Given the description of an element on the screen output the (x, y) to click on. 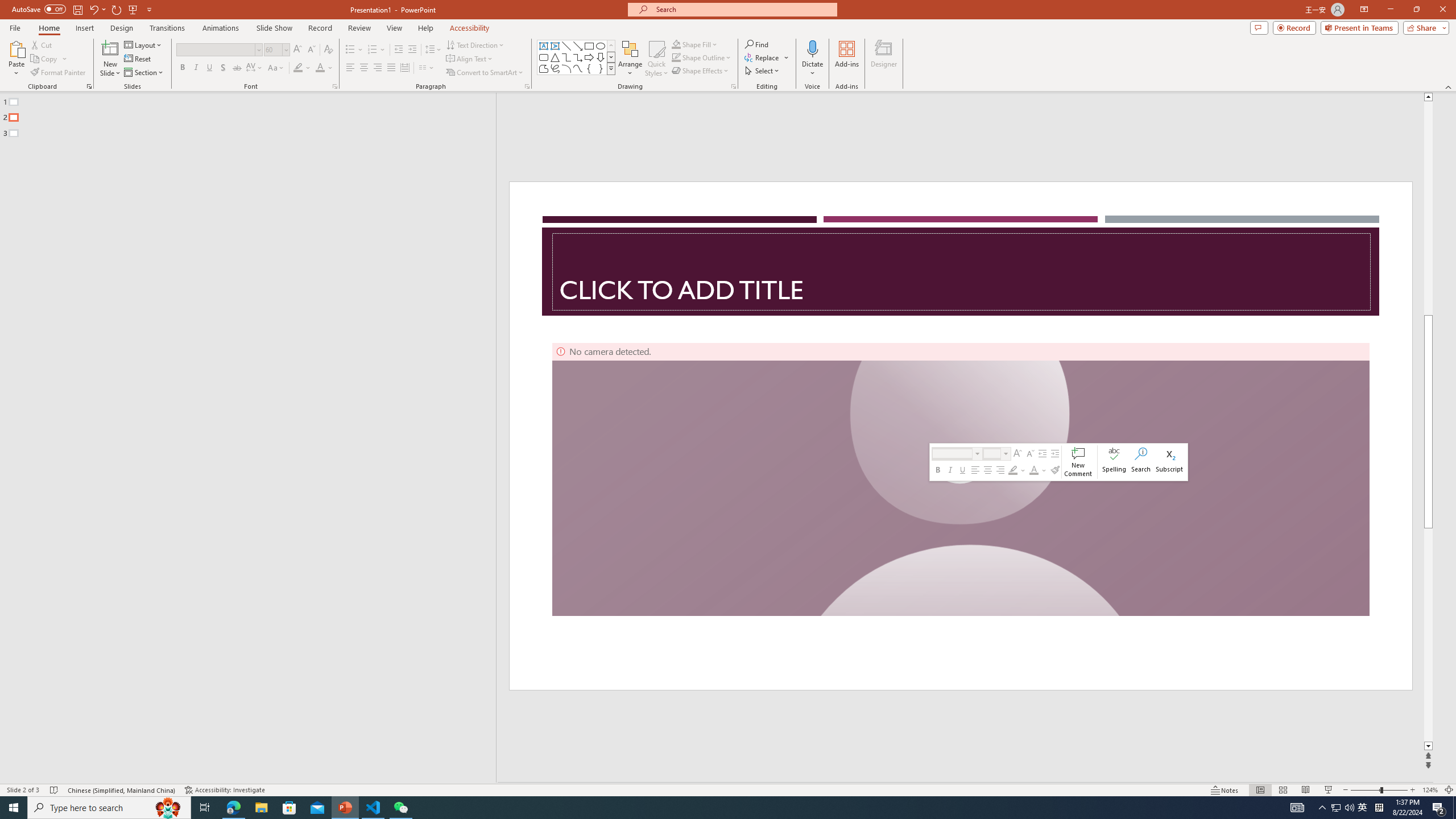
Row up (611, 45)
Class: NetUIImage (610, 68)
Collapse the Ribbon (1448, 86)
New Slide (110, 58)
Title TextBox (960, 271)
Oval (600, 45)
Share (1423, 27)
Bullets (349, 49)
Line (566, 45)
Increase Font Size (297, 49)
Font... (334, 85)
Justify (390, 67)
Slide Sorter (1282, 790)
AutoSave (38, 9)
System (6, 6)
